Given the description of an element on the screen output the (x, y) to click on. 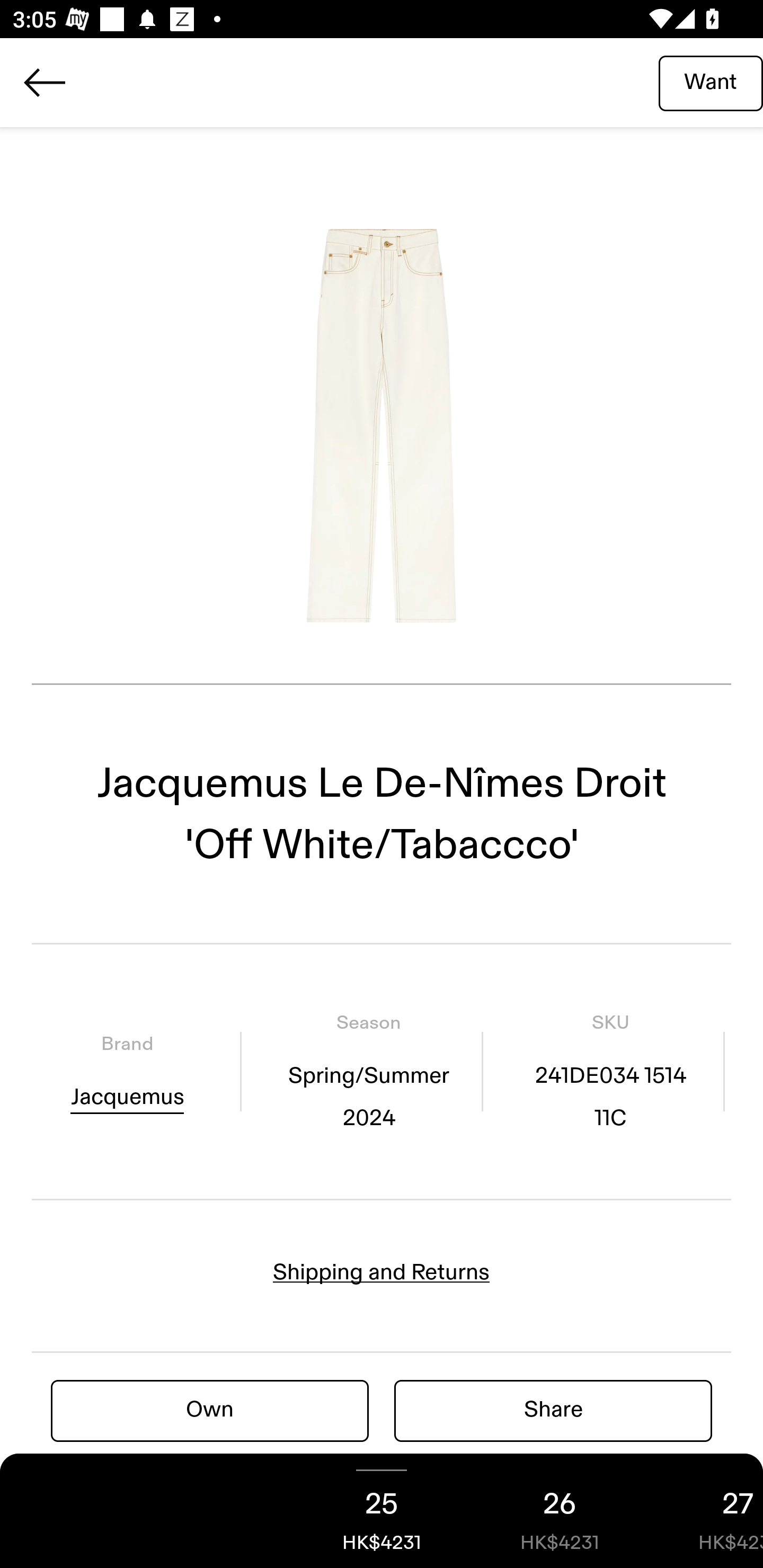
Want (710, 82)
Brand Jacquemus (126, 1070)
Season Spring/Summer 2024 (368, 1070)
SKU 241DE034 1514 11C (609, 1070)
Shipping and Returns (381, 1272)
Own (209, 1410)
Share (552, 1410)
25 HK$4231 (381, 1510)
26 HK$4231 (559, 1510)
27 HK$4231 (705, 1510)
